Given the description of an element on the screen output the (x, y) to click on. 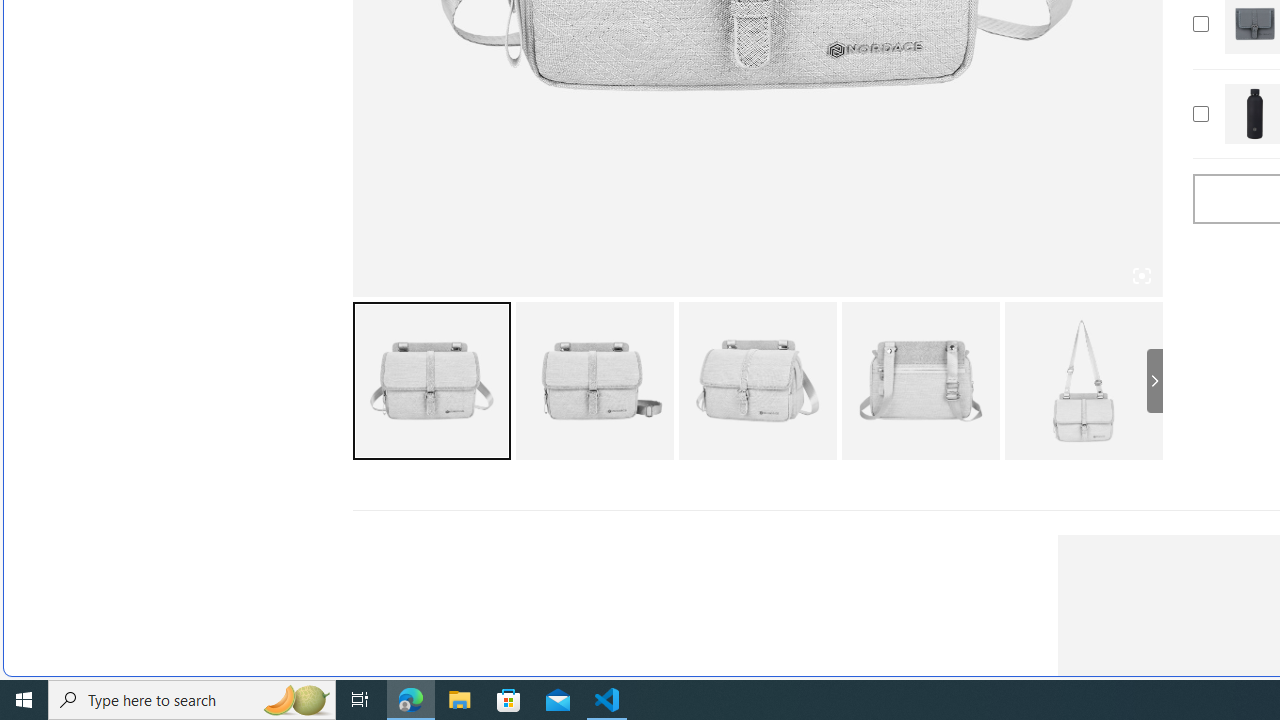
Add this product to cart (1200, 114)
Class: iconic-woothumbs-fullscreen (1140, 276)
